Given the description of an element on the screen output the (x, y) to click on. 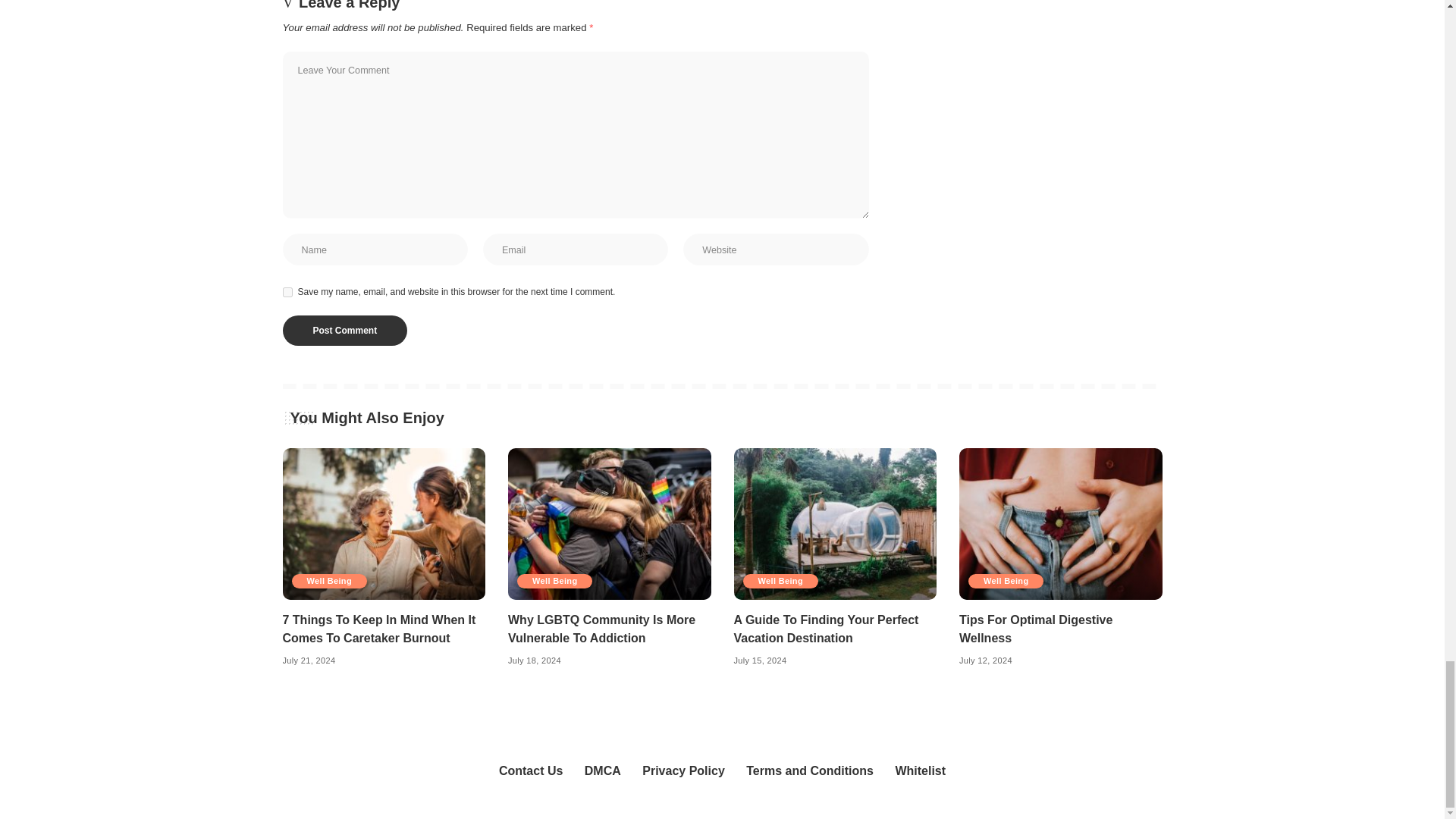
Post Comment (344, 330)
yes (287, 292)
